Given the description of an element on the screen output the (x, y) to click on. 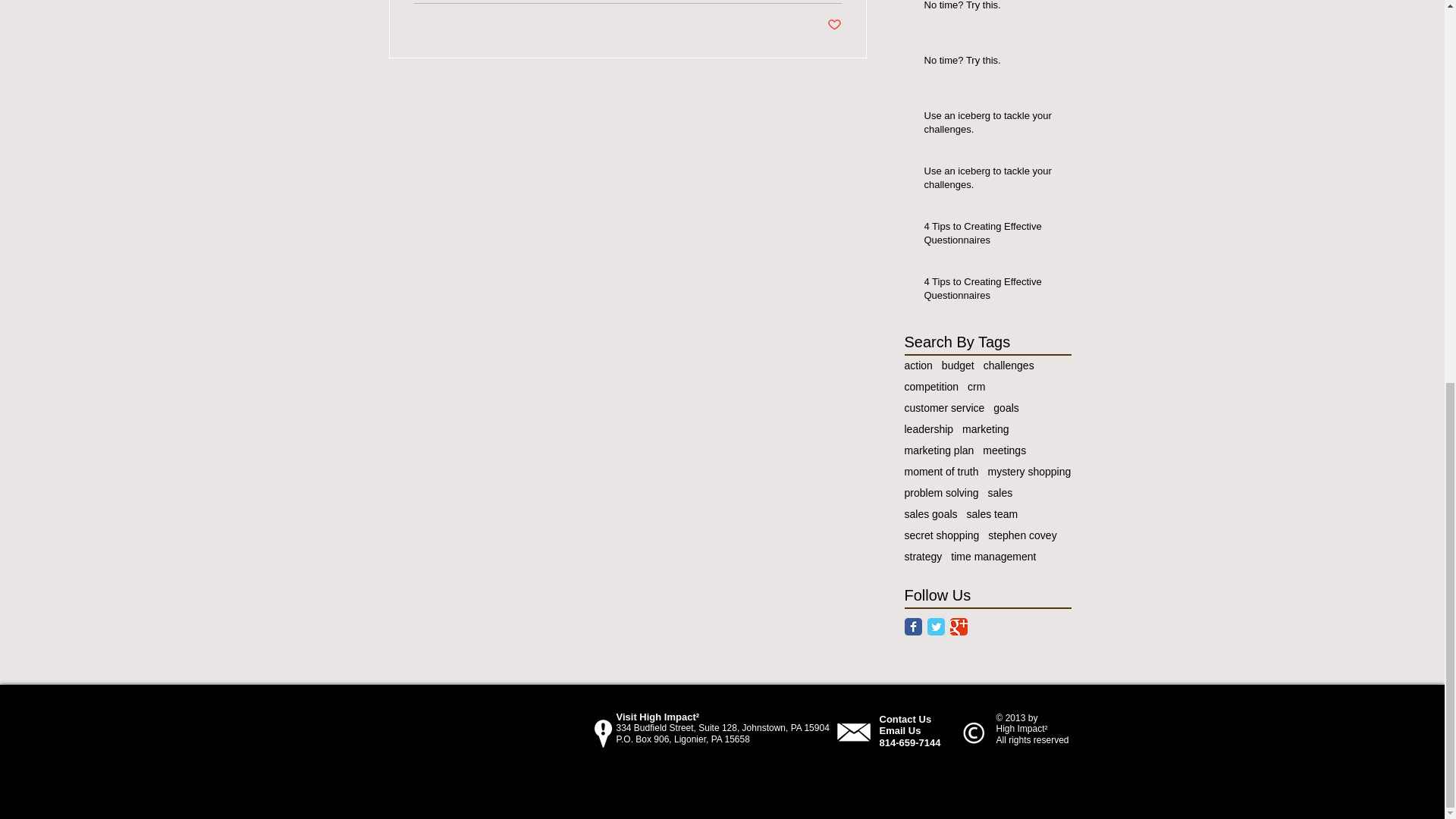
Use an iceberg to tackle your challenges. (992, 181)
challenges (1008, 365)
customer service (944, 408)
No time? Try this. (992, 63)
meetings (1004, 450)
marketing plan (939, 450)
crm (976, 386)
secret shopping (941, 535)
stephen covey (1022, 535)
sales team (991, 513)
